Given the description of an element on the screen output the (x, y) to click on. 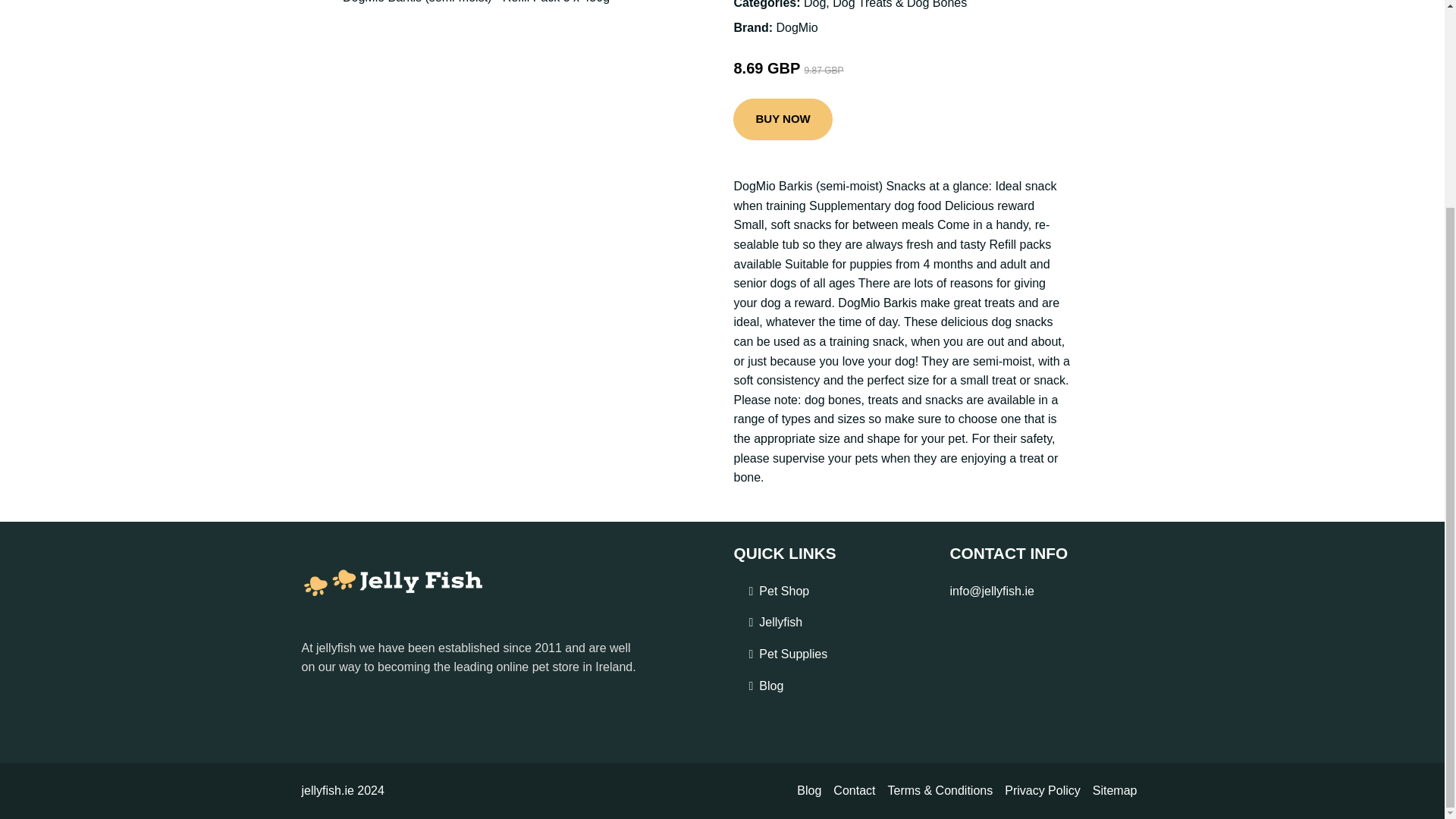
Pet Supplies (792, 654)
Jellyfish (780, 622)
Pet Shop (783, 591)
Blog (770, 686)
Privacy Policy (1042, 790)
Contact (853, 790)
Sitemap (1114, 790)
Dog (814, 4)
BUY NOW (782, 119)
Blog (808, 790)
